Given the description of an element on the screen output the (x, y) to click on. 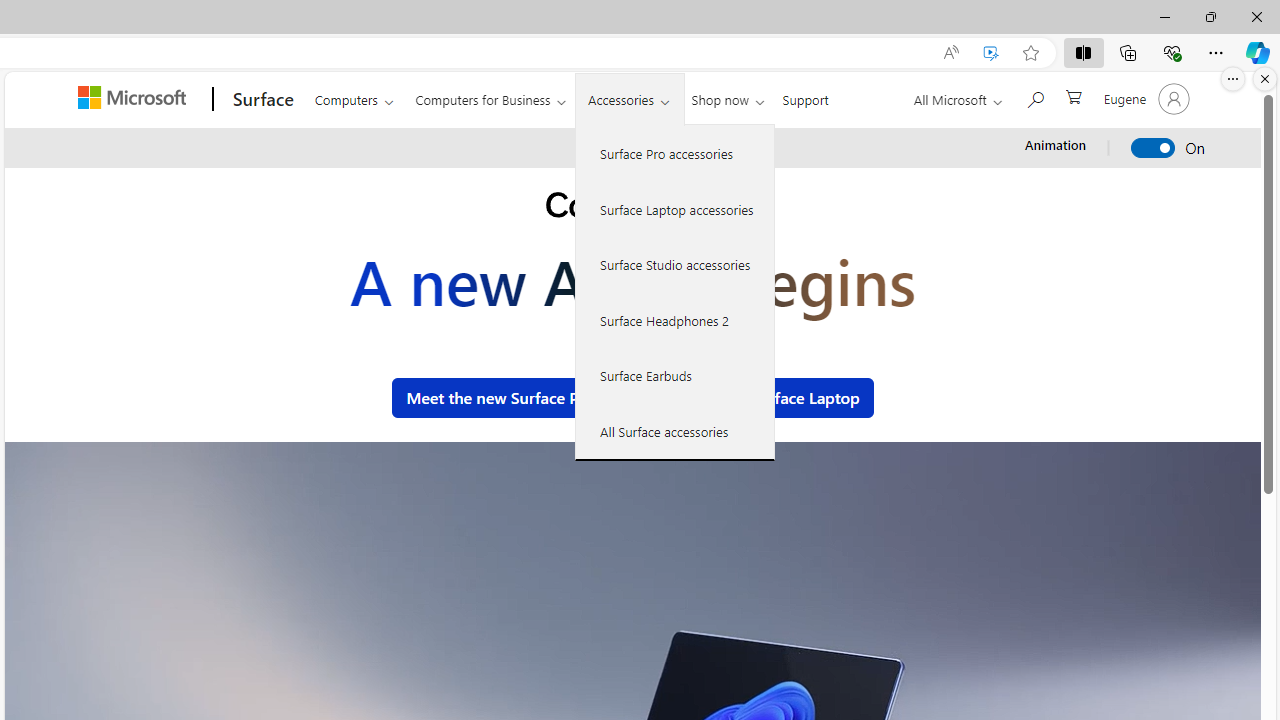
Surface (260, 99)
Surface Laptop accessories (675, 208)
Search Microsoft.com (1034, 97)
Surface Pro accessories (675, 153)
Support (805, 96)
Microsoft (135, 99)
Copilot+ PC. (632, 207)
